Given the description of an element on the screen output the (x, y) to click on. 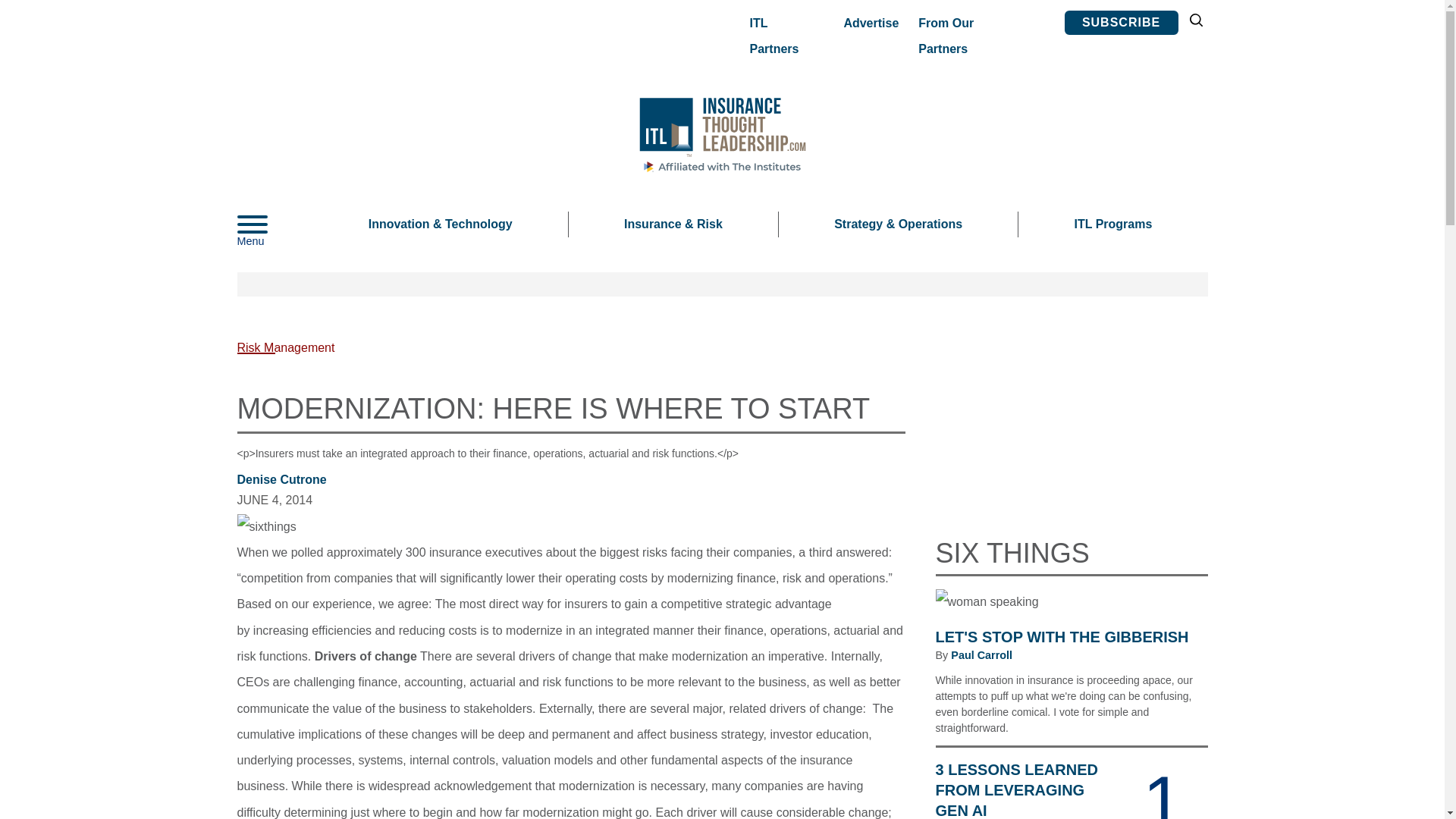
From Our Partners (971, 36)
Menu (274, 224)
Advertise (870, 23)
ITL Partners (782, 36)
SUBSCRIBE (1120, 22)
ITL Programs (1112, 224)
